Given the description of an element on the screen output the (x, y) to click on. 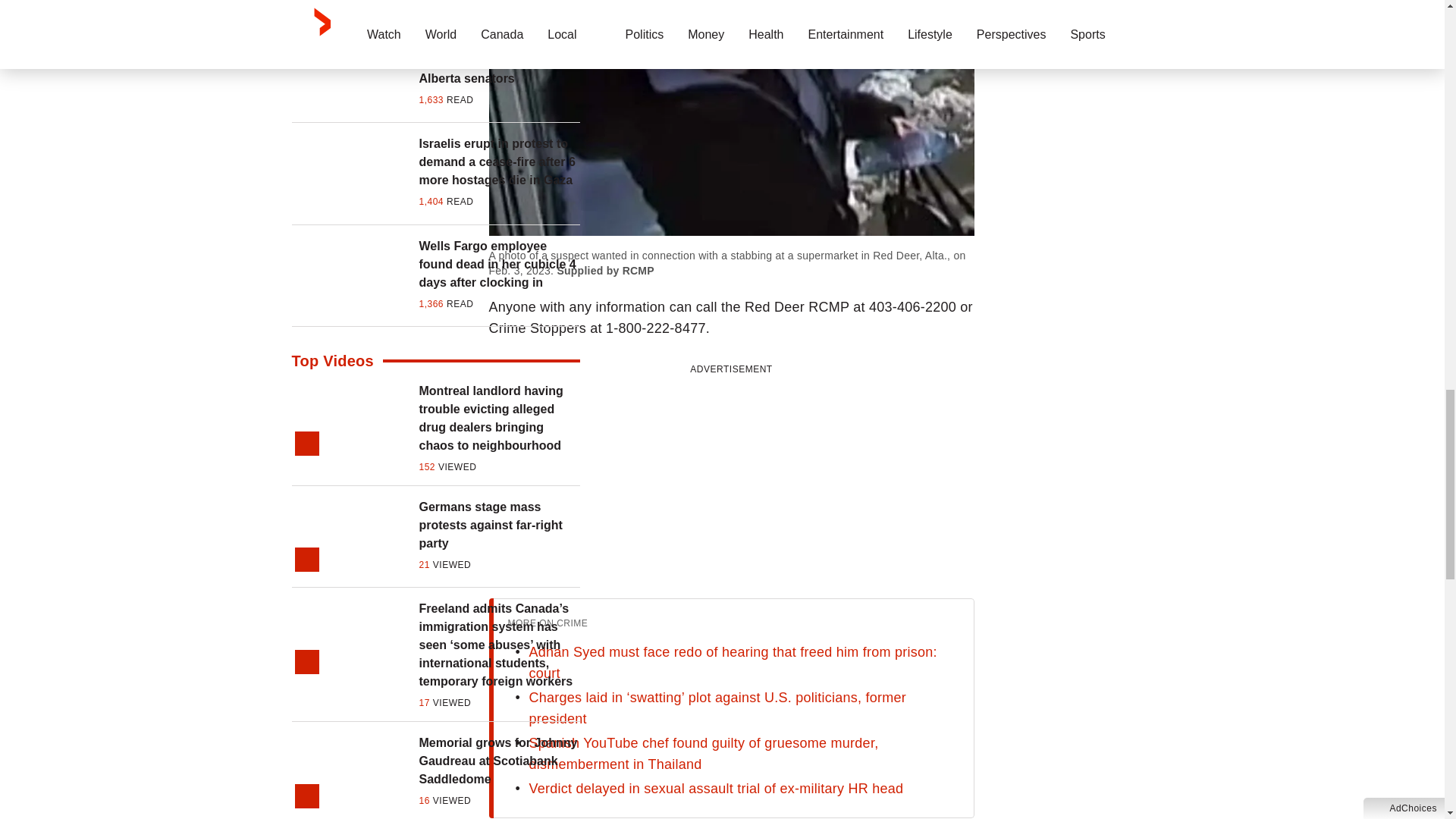
View image in full screen (730, 117)
